Given the description of an element on the screen output the (x, y) to click on. 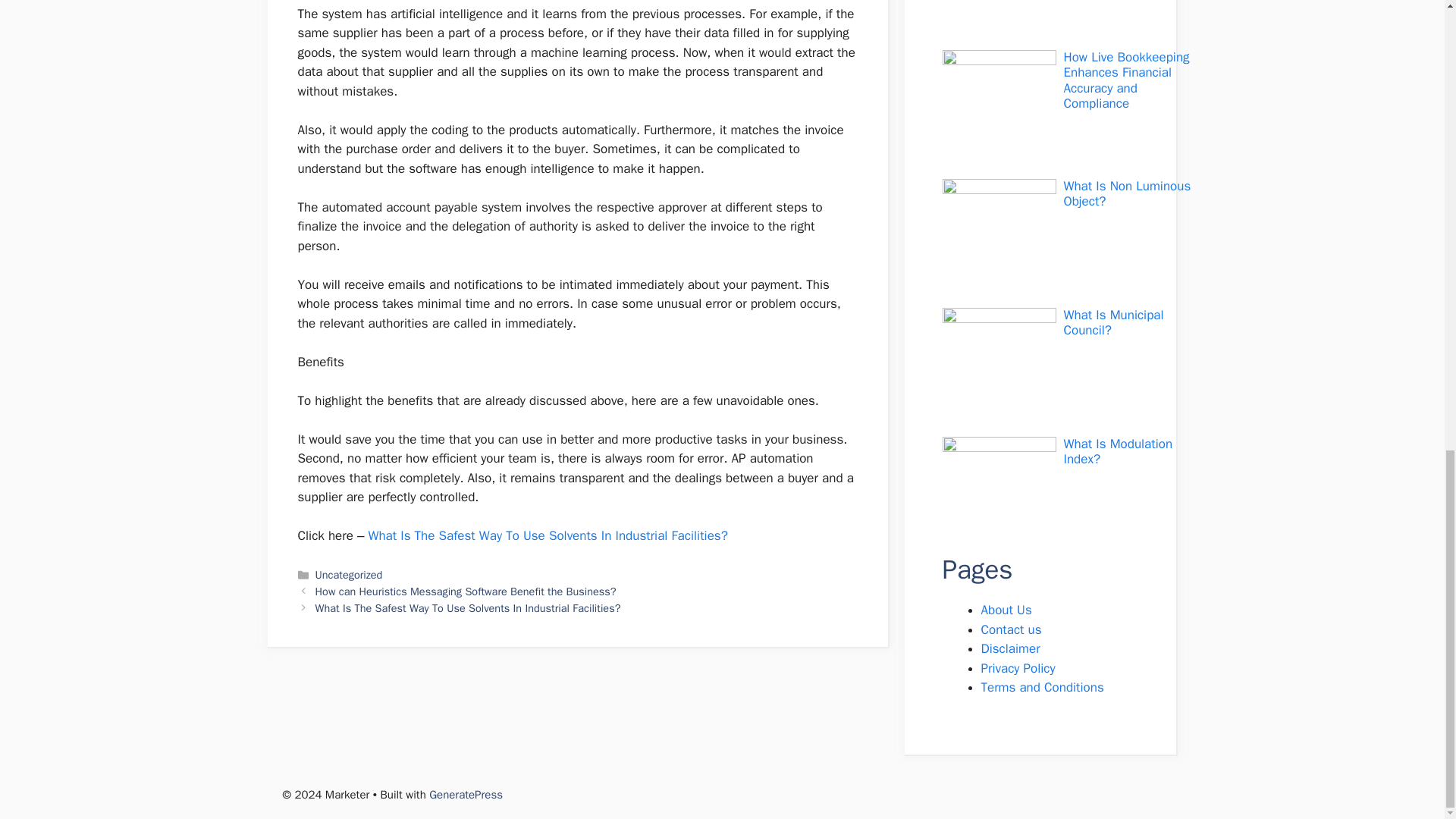
How can Heuristics Messaging Software Benefit the Business?  (467, 591)
What Is Non Luminous Object? (1126, 193)
What Is Municipal Council? (1112, 322)
Privacy Policy (1018, 667)
What Is Modulation Index? (1117, 450)
Disclaimer (1011, 648)
Contact us (1011, 629)
About Us (1006, 609)
Uncategorized (348, 574)
